Given the description of an element on the screen output the (x, y) to click on. 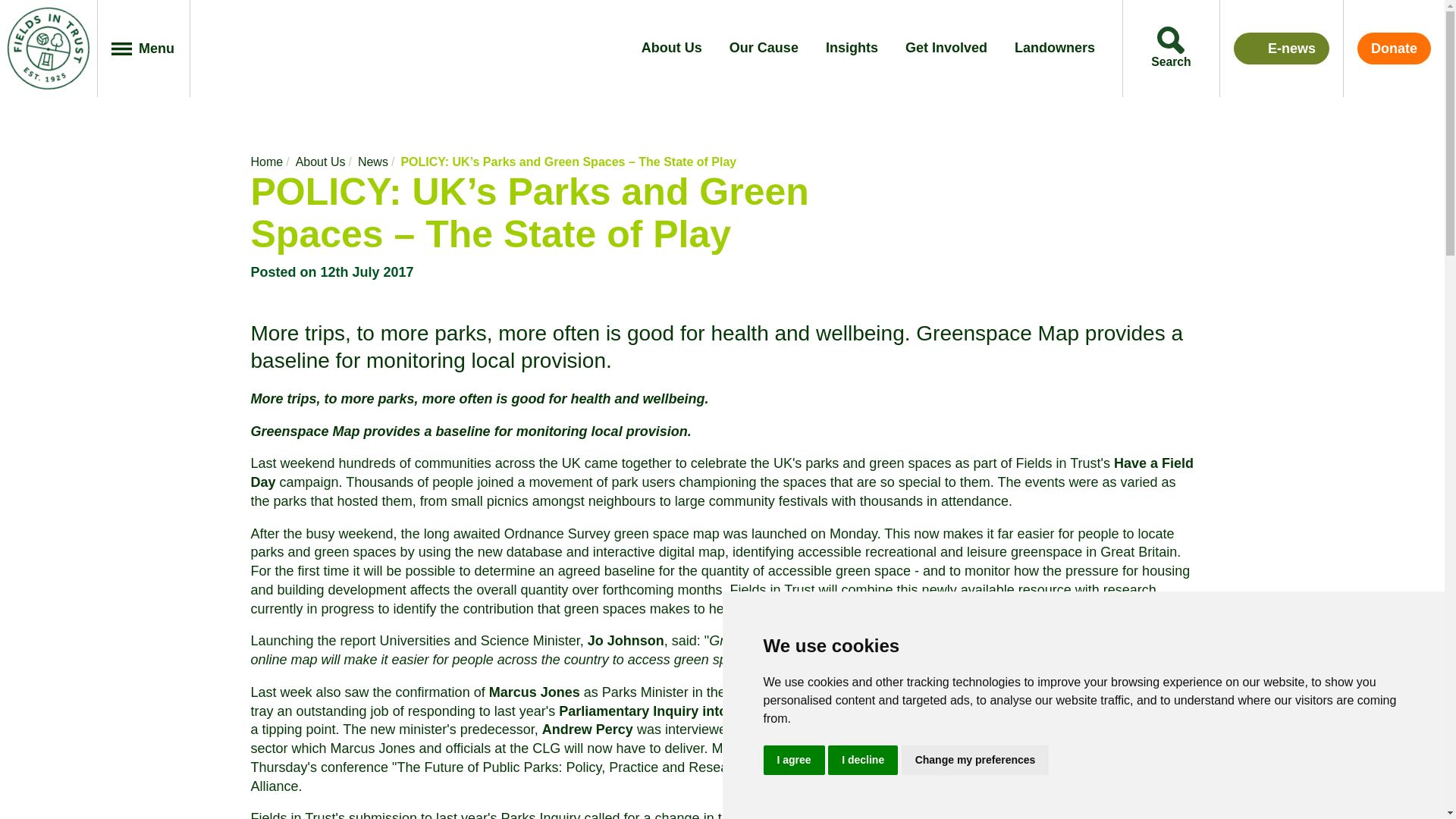
I agree (793, 758)
Landowners (1054, 49)
E-news (1281, 48)
About Us (671, 49)
Search (1171, 48)
Change my preferences (975, 758)
Donate (1393, 48)
Our Cause (763, 49)
Menu (143, 48)
Insights (851, 49)
Get Involved (946, 49)
I decline (863, 758)
